Given the description of an element on the screen output the (x, y) to click on. 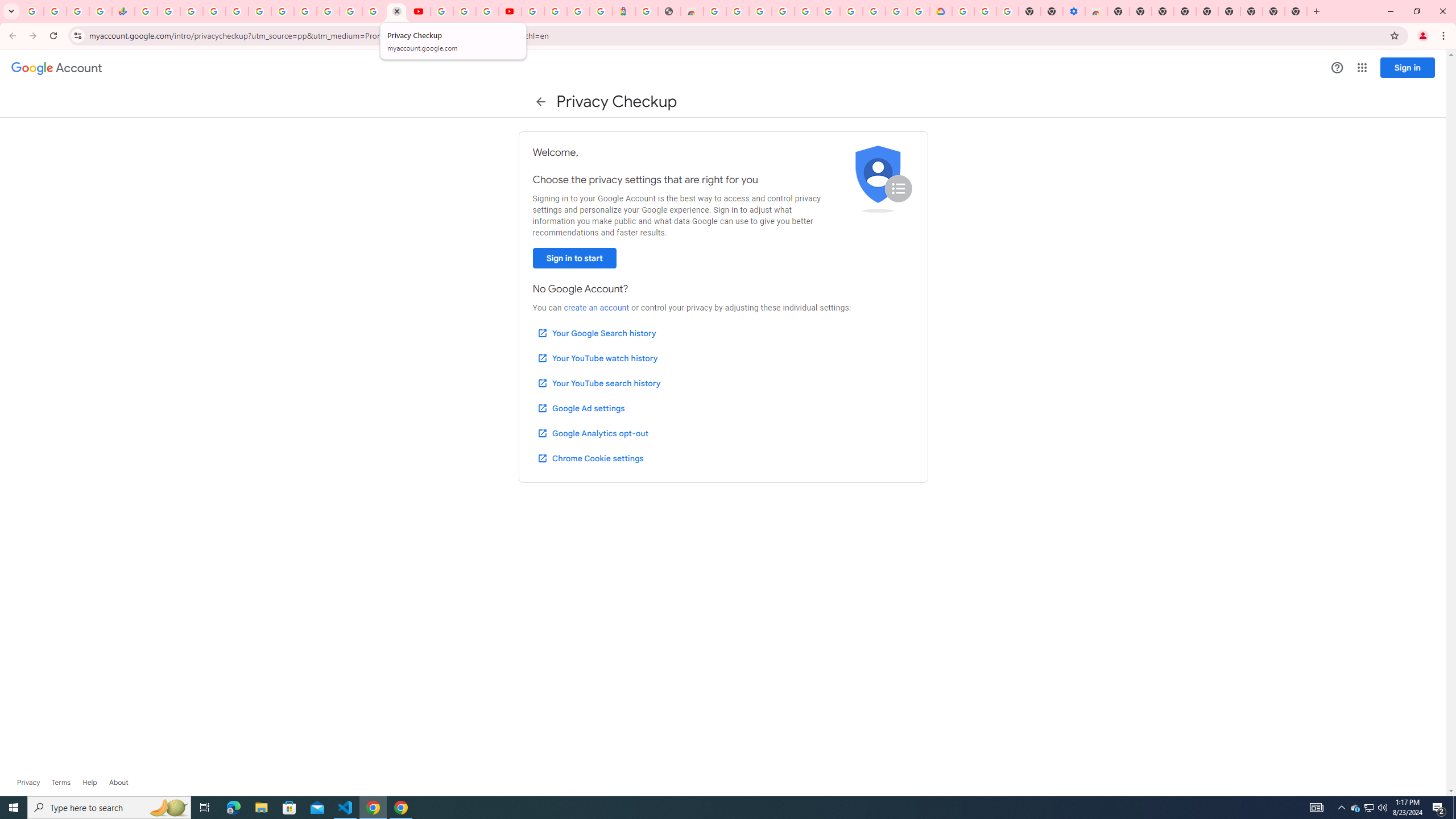
Sign in - Google Accounts (214, 11)
Browse the Google Chrome Community - Google Chrome Community (918, 11)
Sign in - Google Accounts (328, 11)
Sign in - Google Accounts (373, 11)
New Tab (1118, 11)
Sign in to start (573, 258)
Create your Google Account (486, 11)
